Given the description of an element on the screen output the (x, y) to click on. 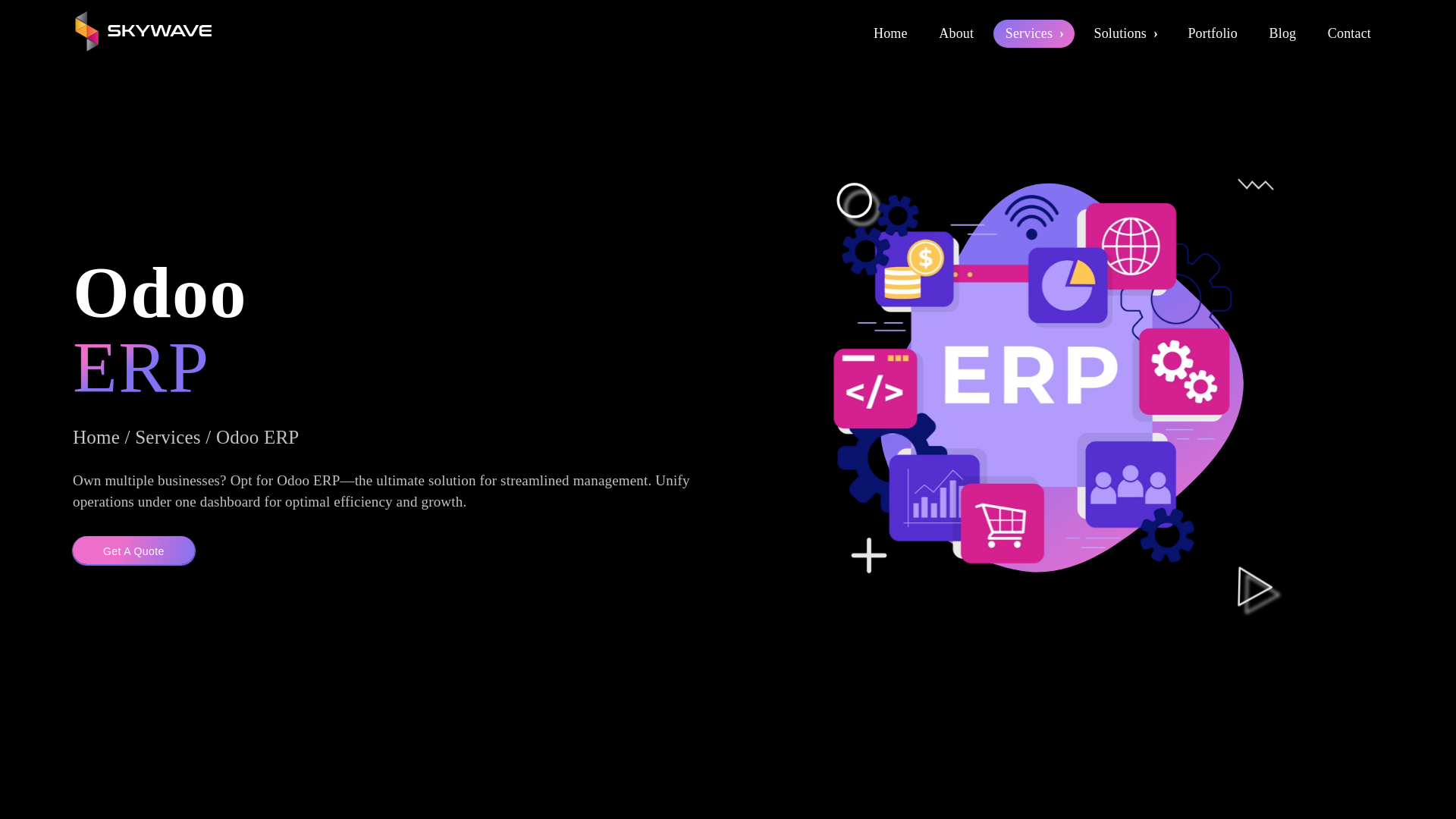
Blog (1282, 33)
Get A Quote (133, 550)
Services (1033, 33)
Contact (1349, 33)
Home (890, 33)
Portfolio (1211, 33)
About (955, 33)
Solutions (1124, 33)
